Given the description of an element on the screen output the (x, y) to click on. 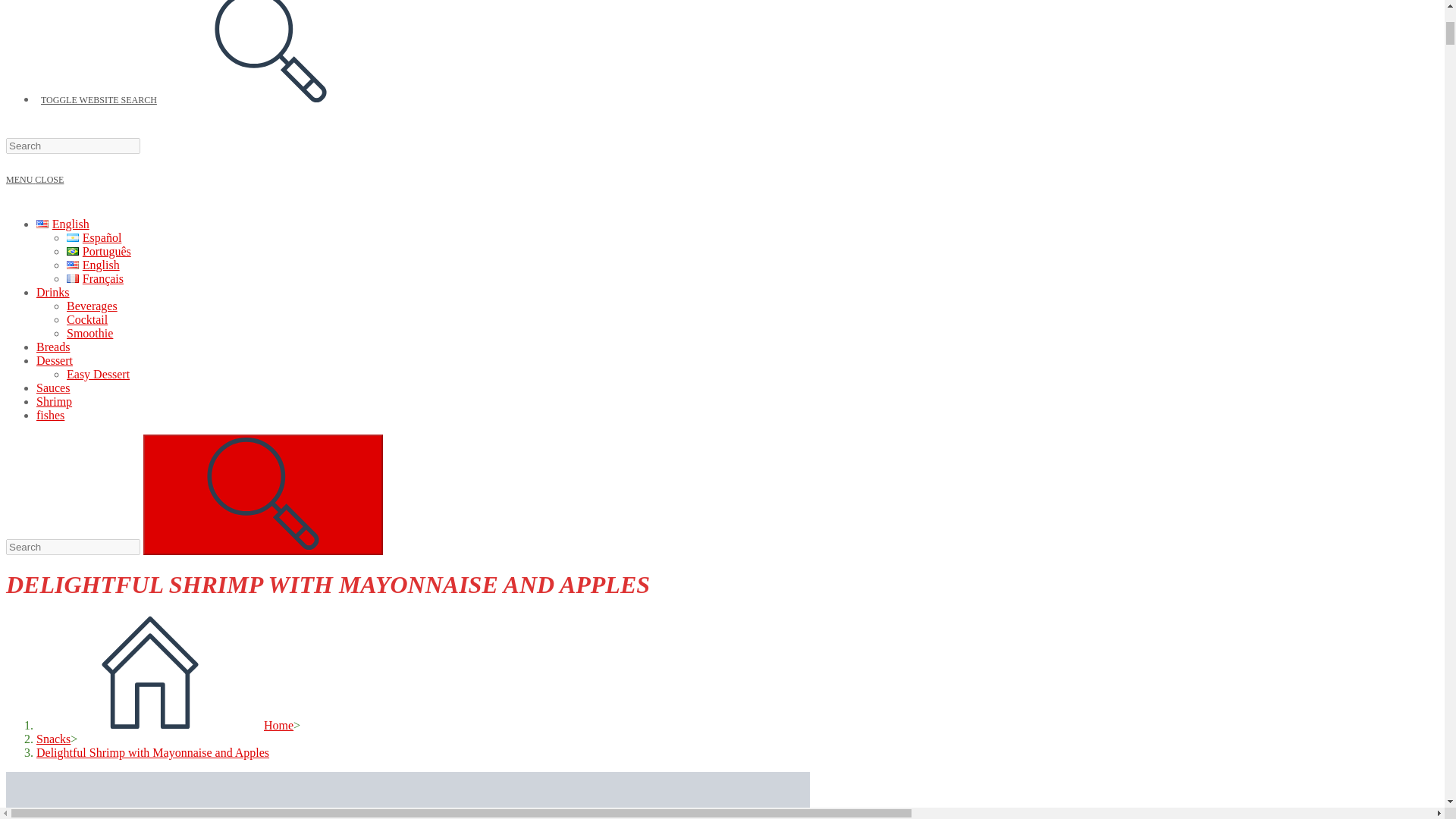
Dessert (54, 359)
Sauces (52, 387)
Easy Dessert (97, 373)
Breads (52, 346)
Cocktail (86, 318)
MENU CLOSE (34, 179)
Home (165, 725)
TOGGLE WEBSITE SEARCH (212, 100)
Snacks (52, 738)
Smoothie (89, 332)
English (92, 264)
Drinks (52, 291)
English (62, 223)
Beverages (91, 305)
fishes (50, 414)
